Given the description of an element on the screen output the (x, y) to click on. 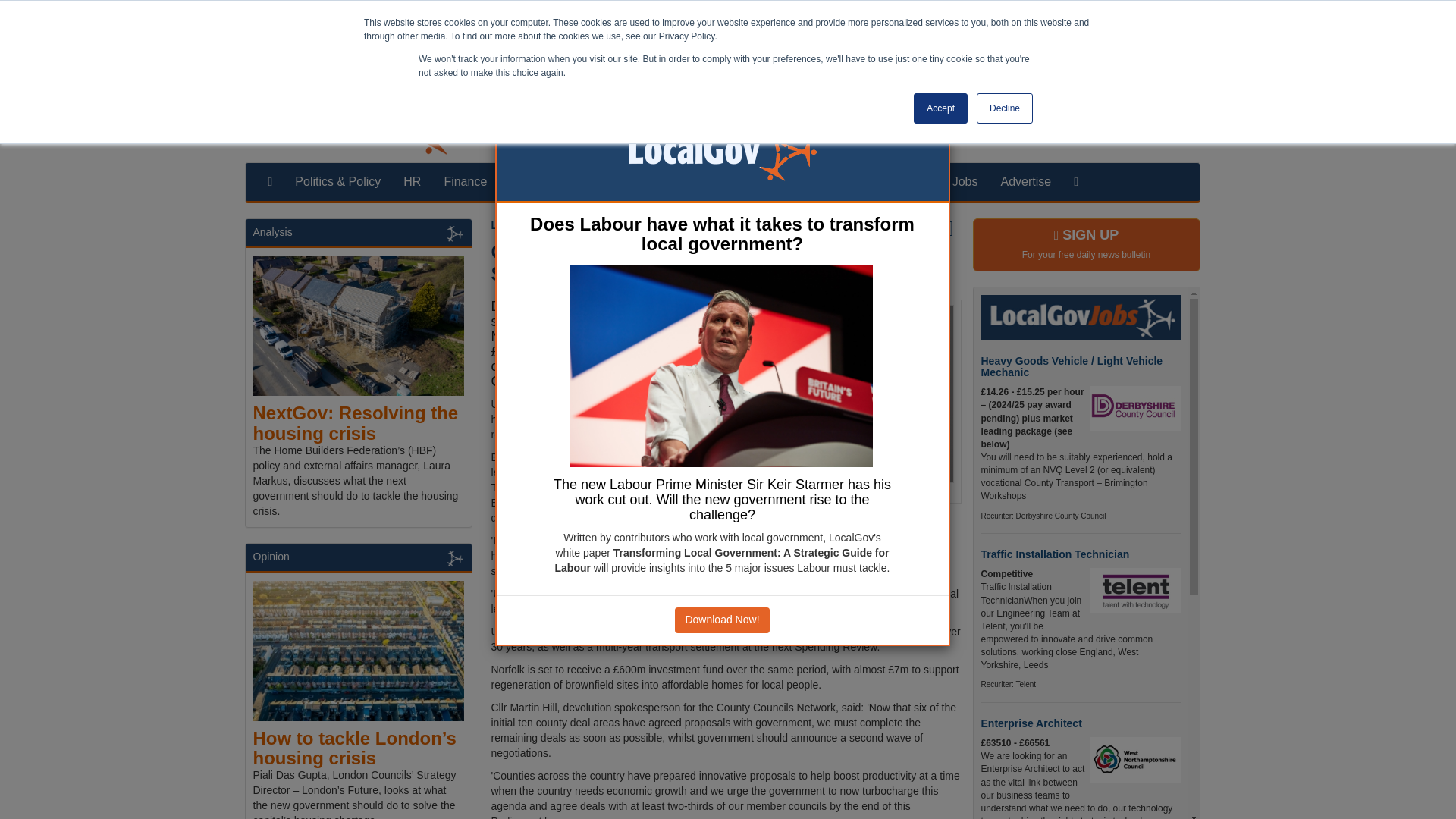
Analysis (772, 181)
Accept (941, 108)
 Enterprise Architect (1031, 723)
Finance (464, 181)
Jobs (965, 181)
Opinion (837, 181)
twitter (1134, 133)
Decline (1004, 108)
 Traffic Installation Technician (1055, 553)
Rss (1181, 133)
NextGov: Resolving the housing crisis (355, 422)
Opinion (271, 556)
HR (411, 181)
Analysis (272, 232)
Advertise (1025, 181)
